Given the description of an element on the screen output the (x, y) to click on. 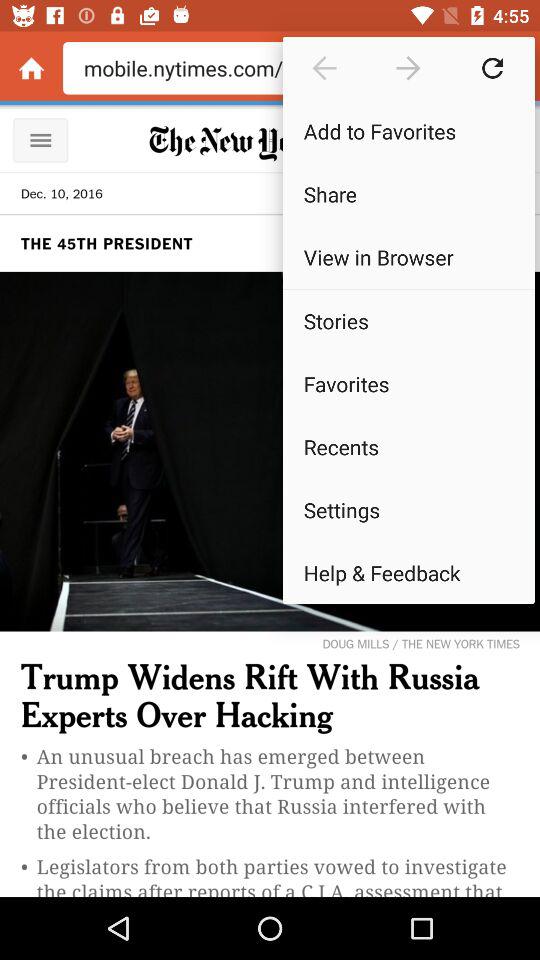
tap the item below view in browser (408, 288)
